Given the description of an element on the screen output the (x, y) to click on. 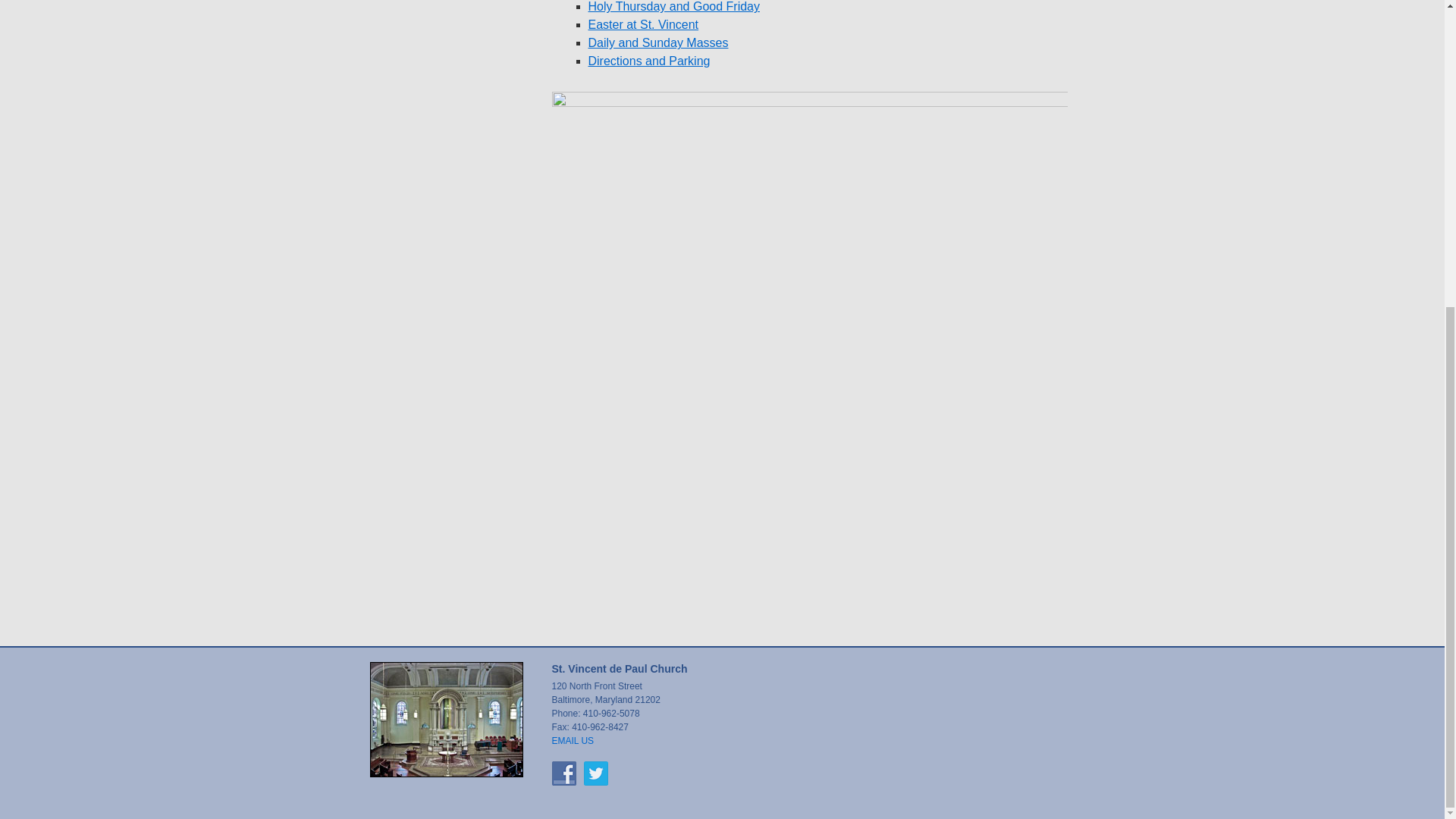
Follow Us on Twitter (595, 773)
Follow Us on Facebook (563, 773)
